Given the description of an element on the screen output the (x, y) to click on. 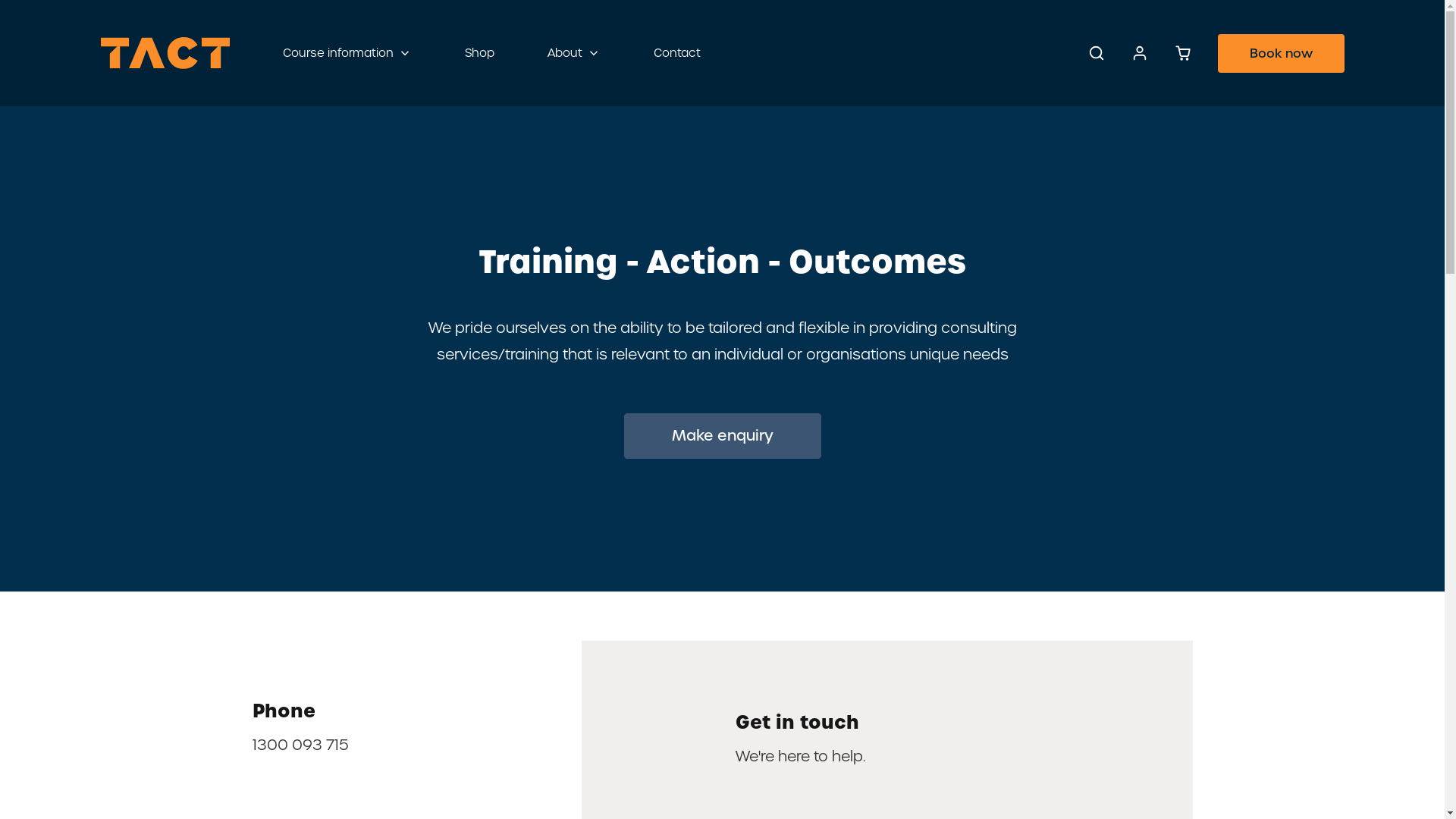
Toggle search Element type: text (1096, 53)
About Element type: text (573, 53)
1300 093 715 Element type: text (299, 744)
Book now Element type: text (1280, 52)
Course information Element type: text (347, 53)
Contact Element type: text (676, 53)
Login Element type: text (1138, 53)
Tact Training Element type: text (164, 53)
Shopping cart Element type: text (1182, 53)
Make enquiry Element type: text (721, 435)
Shop Element type: text (479, 53)
